Given the description of an element on the screen output the (x, y) to click on. 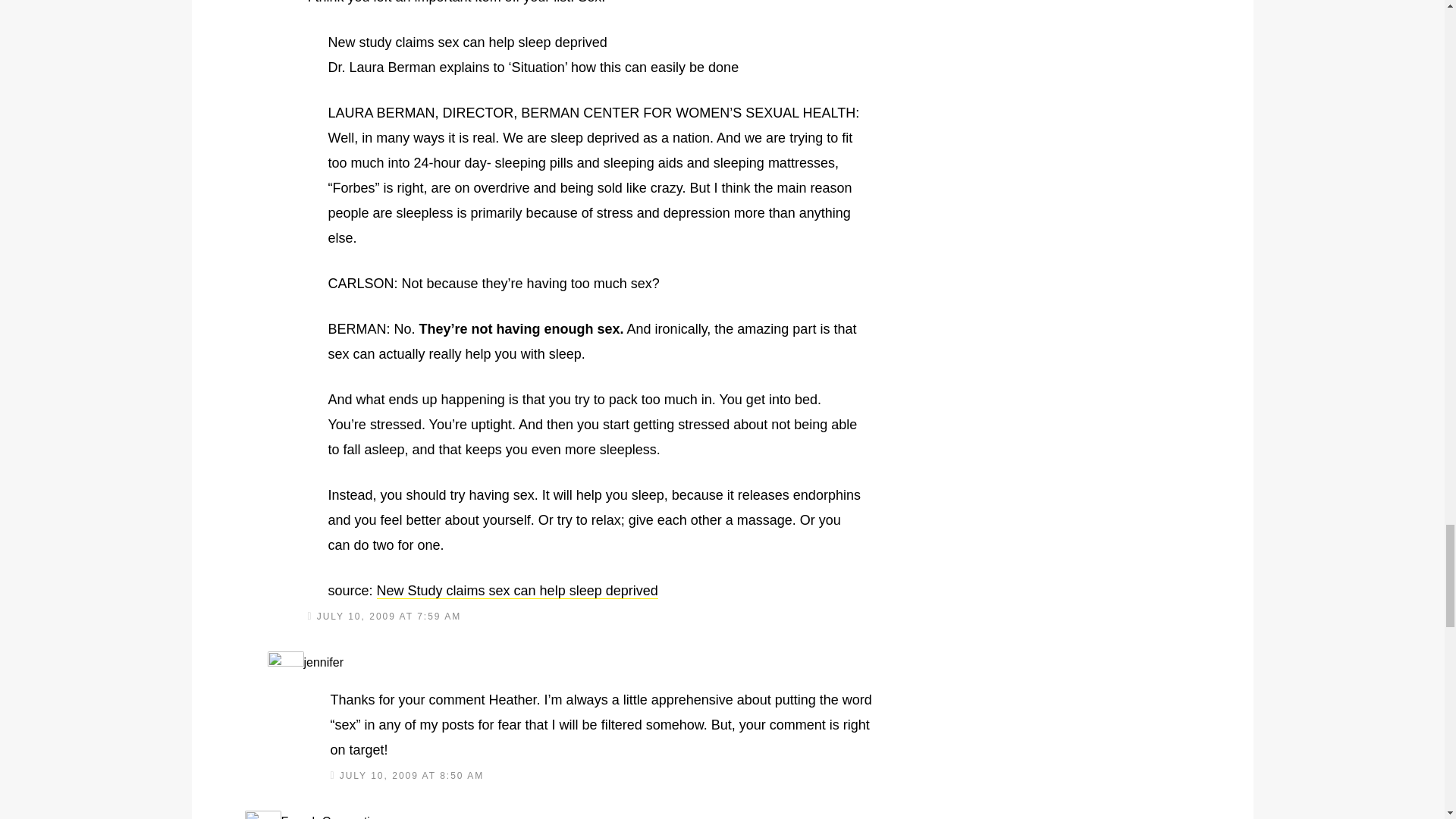
JULY 10, 2009 AT 7:59 AM (389, 615)
jennifer (322, 662)
New Study claims sex can help sleep deprived (517, 590)
JULY 10, 2009 AT 8:50 AM (411, 775)
